Given the description of an element on the screen output the (x, y) to click on. 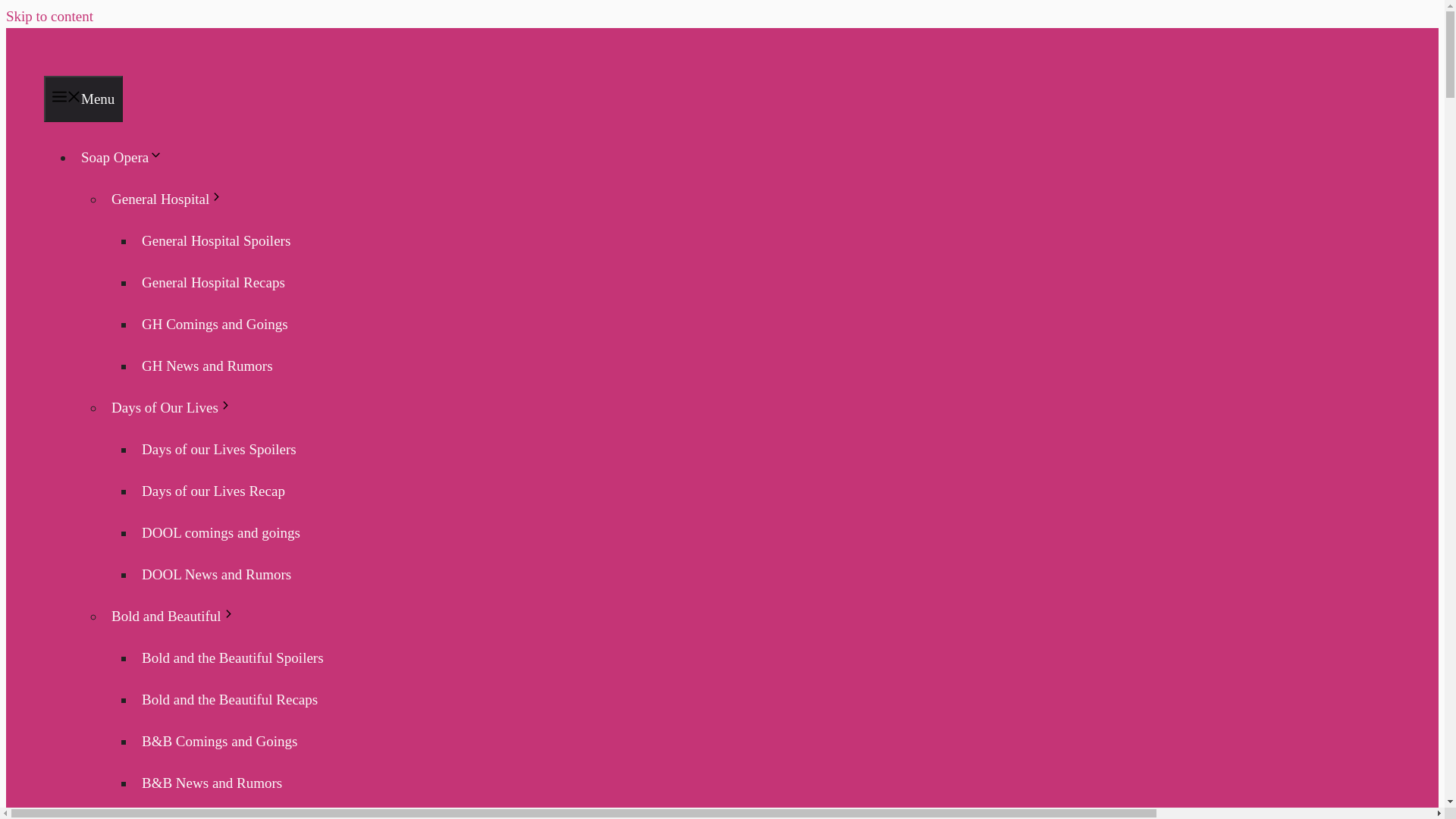
General Hospital Recaps (213, 282)
Bold and Beautiful (176, 615)
GH Comings and Goings (215, 323)
Soap Opera (125, 157)
GH News and Rumors (207, 365)
General Hospital (170, 198)
Young and Restless (177, 814)
Days of our Lives Recap (213, 490)
Days of Our Lives (175, 407)
Menu (82, 99)
Skip to content (49, 16)
SoapAsk (147, 64)
Skip to content (49, 16)
General Hospital Spoilers (216, 240)
Bold and the Beautiful Spoilers (232, 657)
